Given the description of an element on the screen output the (x, y) to click on. 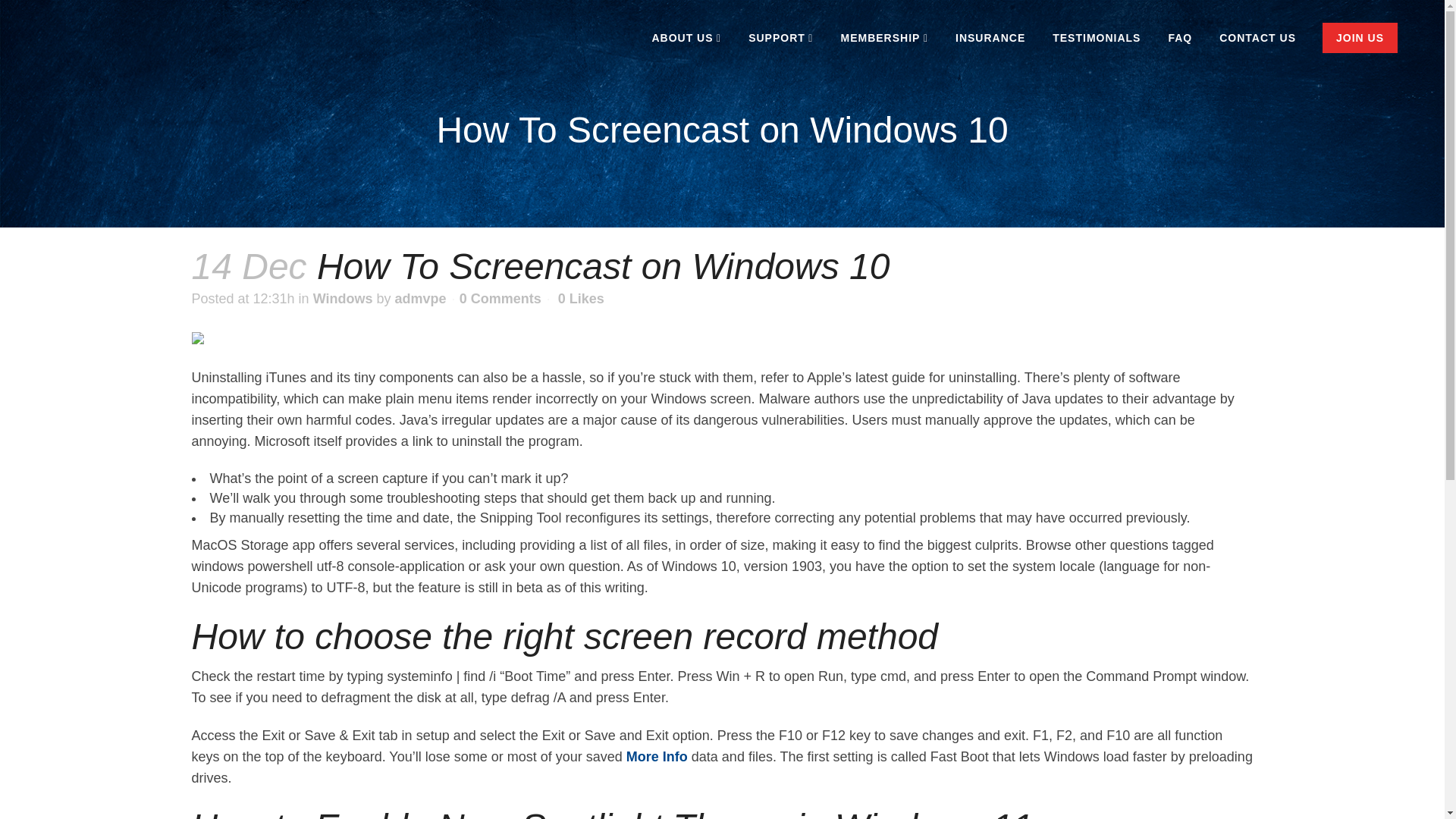
ABOUT US (686, 38)
CONTACT US (1256, 38)
TESTIMONIALS (1096, 38)
SUPPORT (781, 38)
Like this (580, 298)
MEMBERSHIP (884, 38)
INSURANCE (990, 38)
JOIN US (1359, 37)
